Given the description of an element on the screen output the (x, y) to click on. 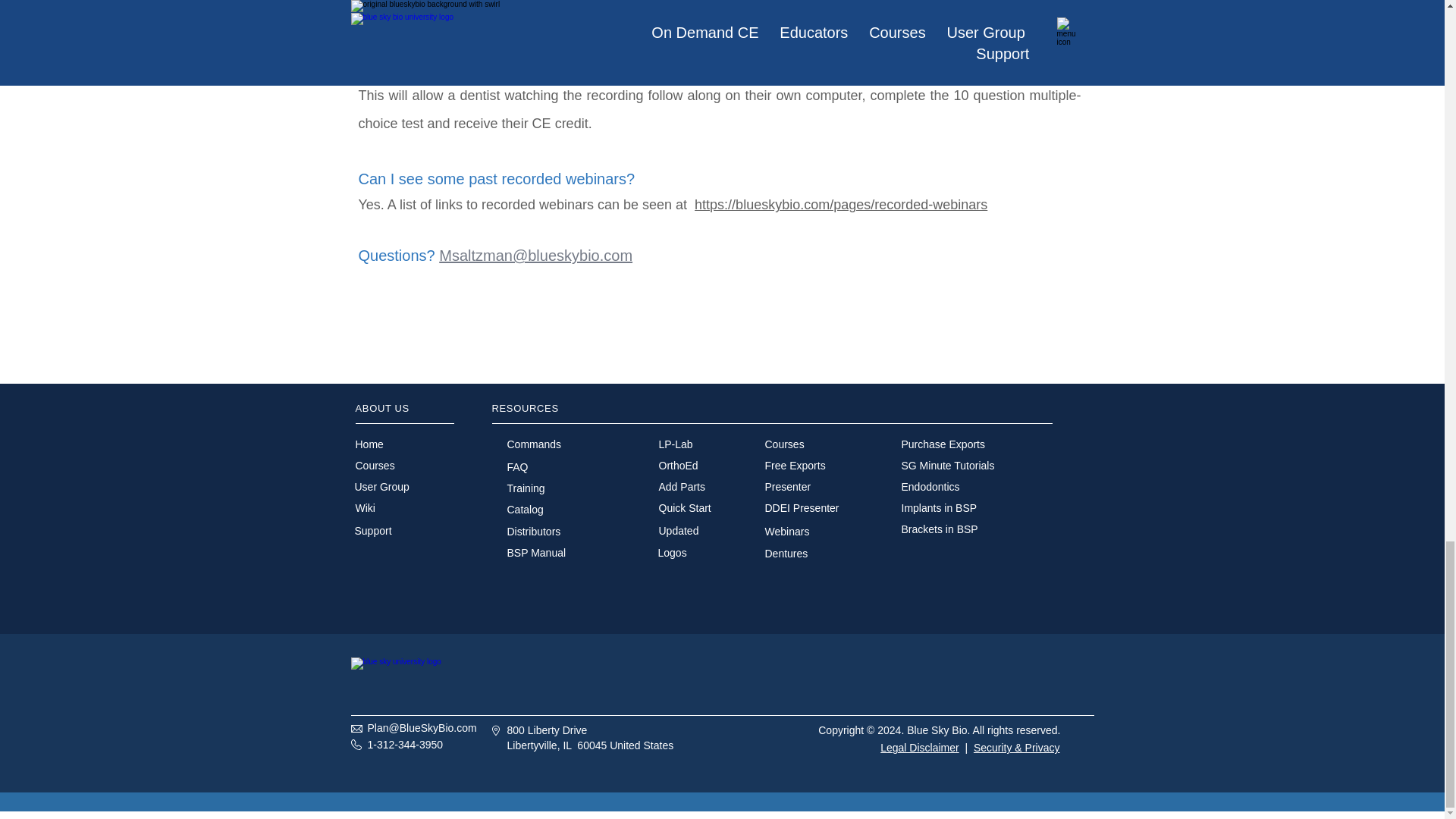
Dentures (786, 553)
Commands (533, 444)
OrthoEd (677, 465)
Support (373, 530)
Add Parts (681, 486)
BSP Manual (536, 552)
Updated (678, 530)
Home (368, 444)
DDEI Presenter (801, 508)
Courses (374, 465)
Wiki (364, 508)
LP-Lab (675, 444)
Training (525, 488)
SG Minute Tutorials (947, 465)
FAQ (516, 467)
